Given the description of an element on the screen output the (x, y) to click on. 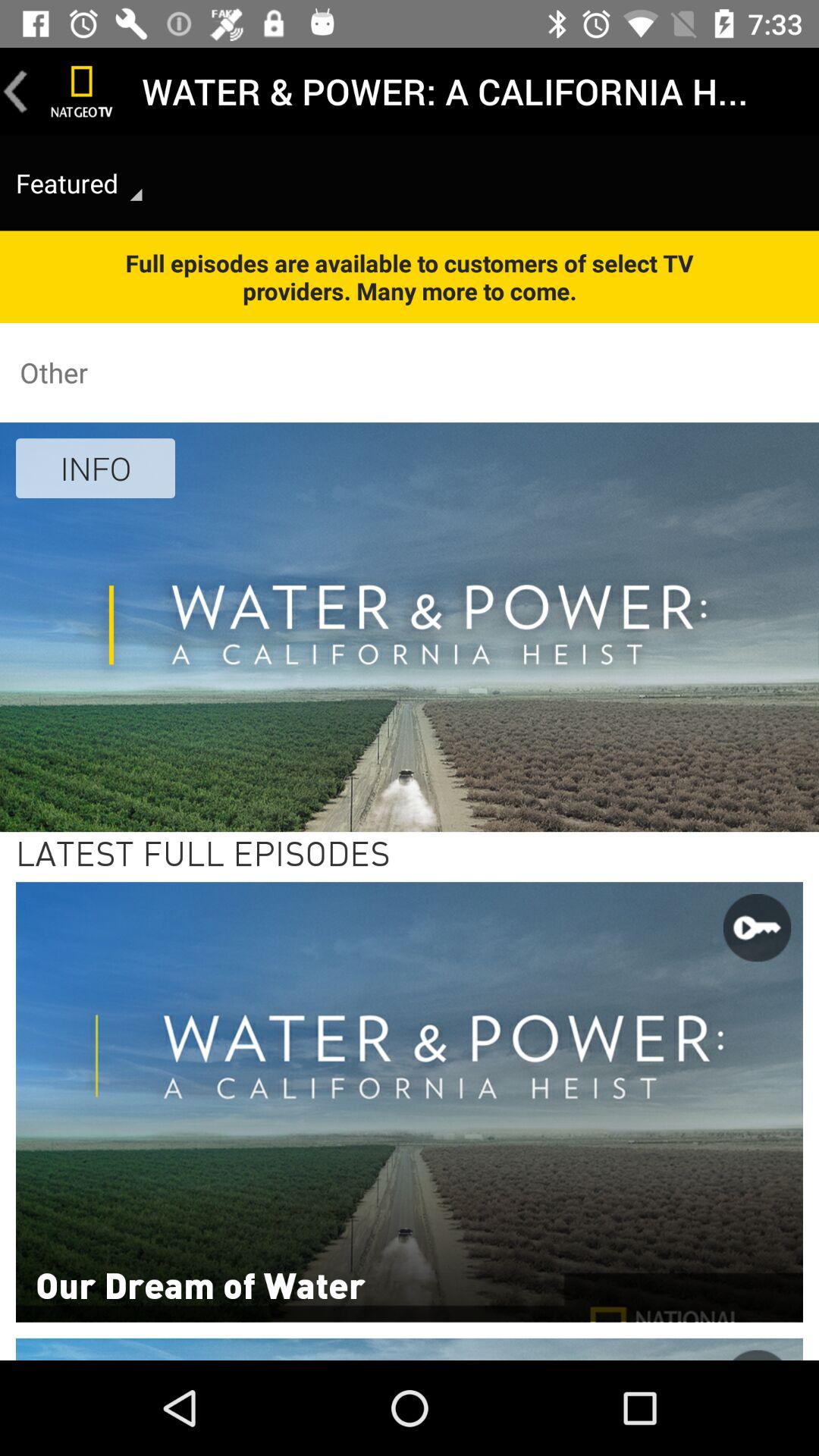
press the item below the other icon (95, 468)
